Given the description of an element on the screen output the (x, y) to click on. 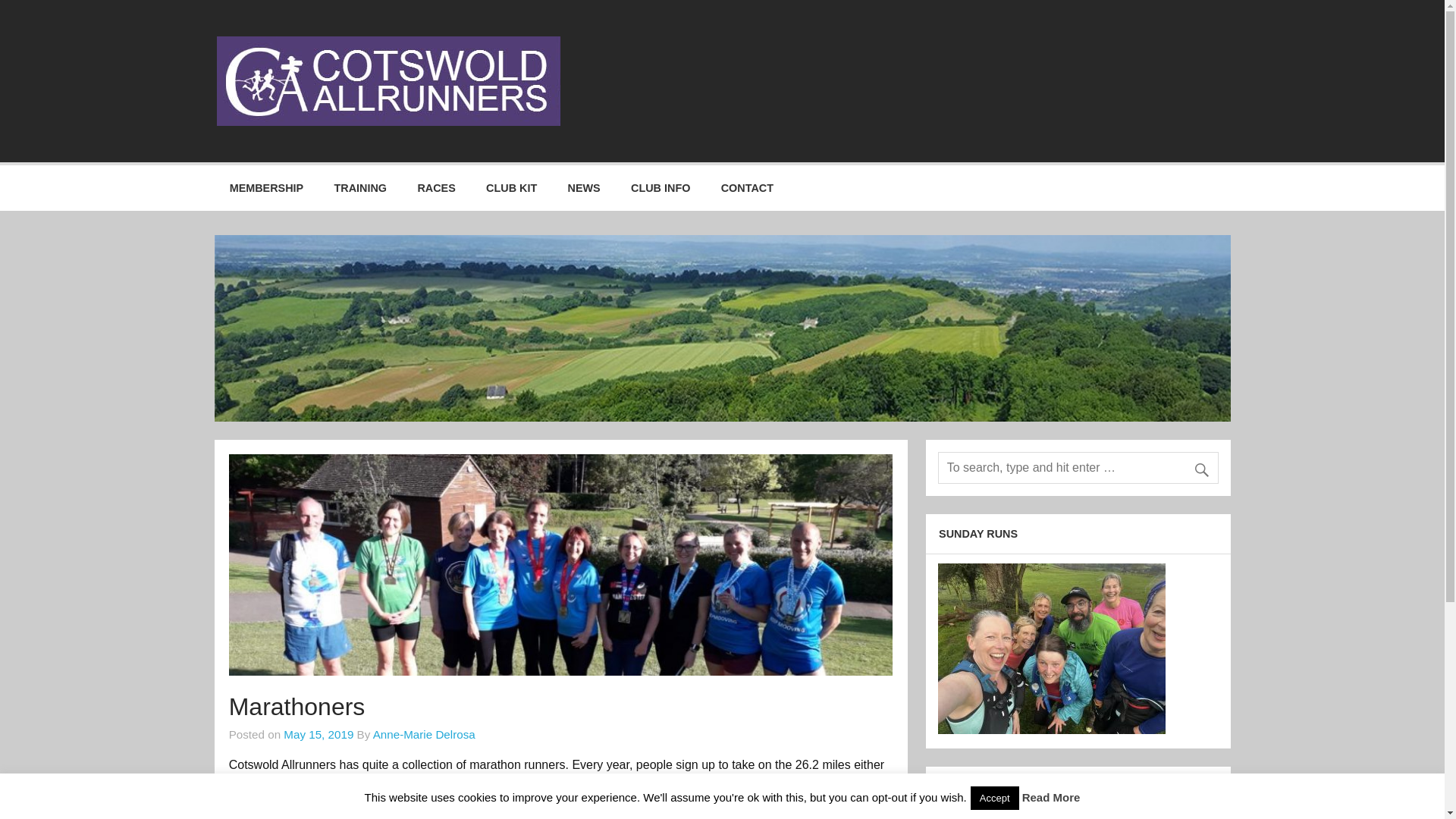
TRAINING (359, 187)
RACES (435, 187)
MEMBERSHIP (266, 187)
5:59 pm (318, 734)
Cotswold Allrunners Club (747, 51)
CLUB KIT (510, 187)
View all posts by Anne-Marie Delrosa (424, 734)
CLUB INFO (660, 187)
CONTACT (747, 187)
May 15, 2019 (318, 734)
NEWS (583, 187)
